Given the description of an element on the screen output the (x, y) to click on. 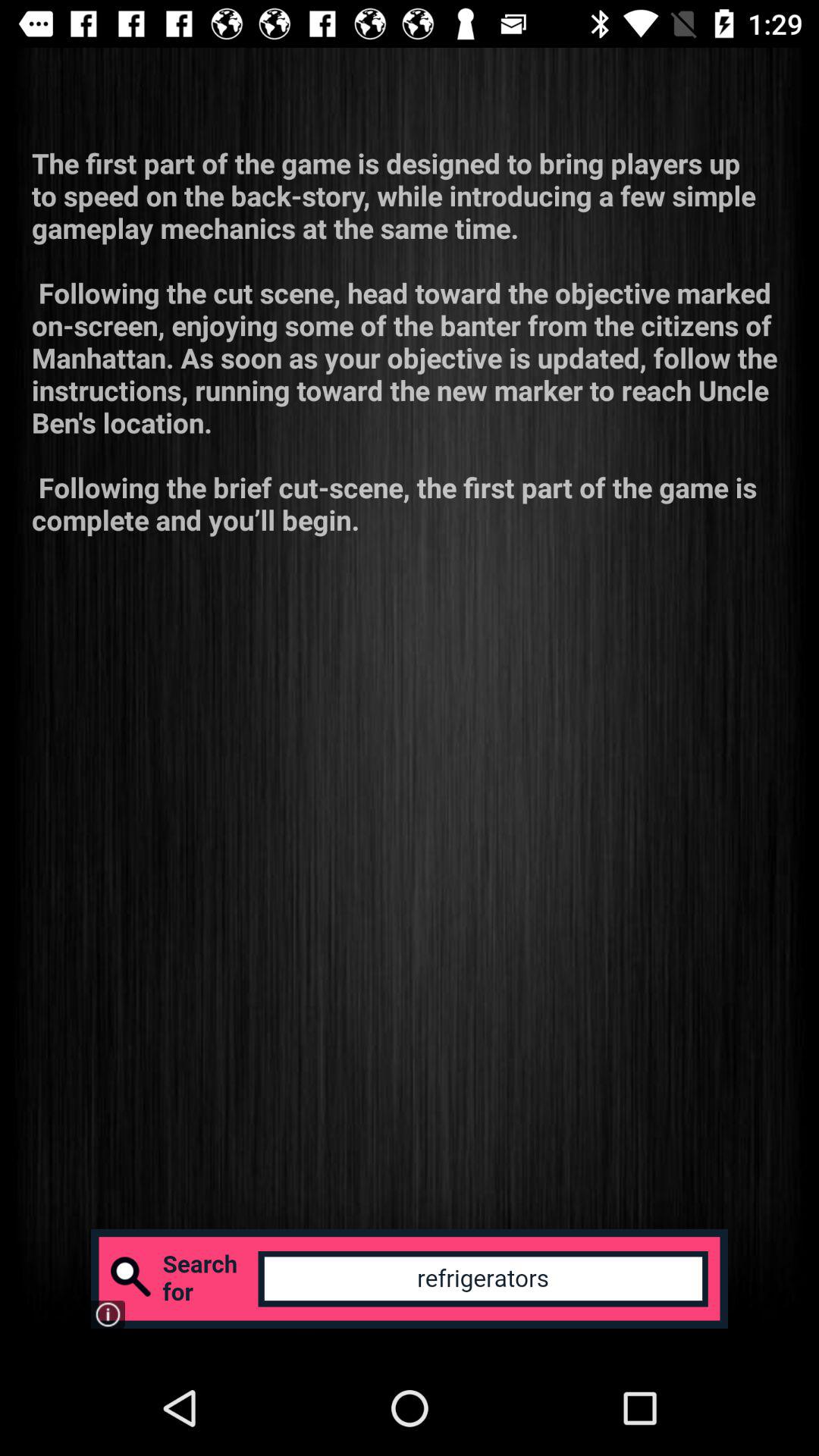
search for (409, 1278)
